Given the description of an element on the screen output the (x, y) to click on. 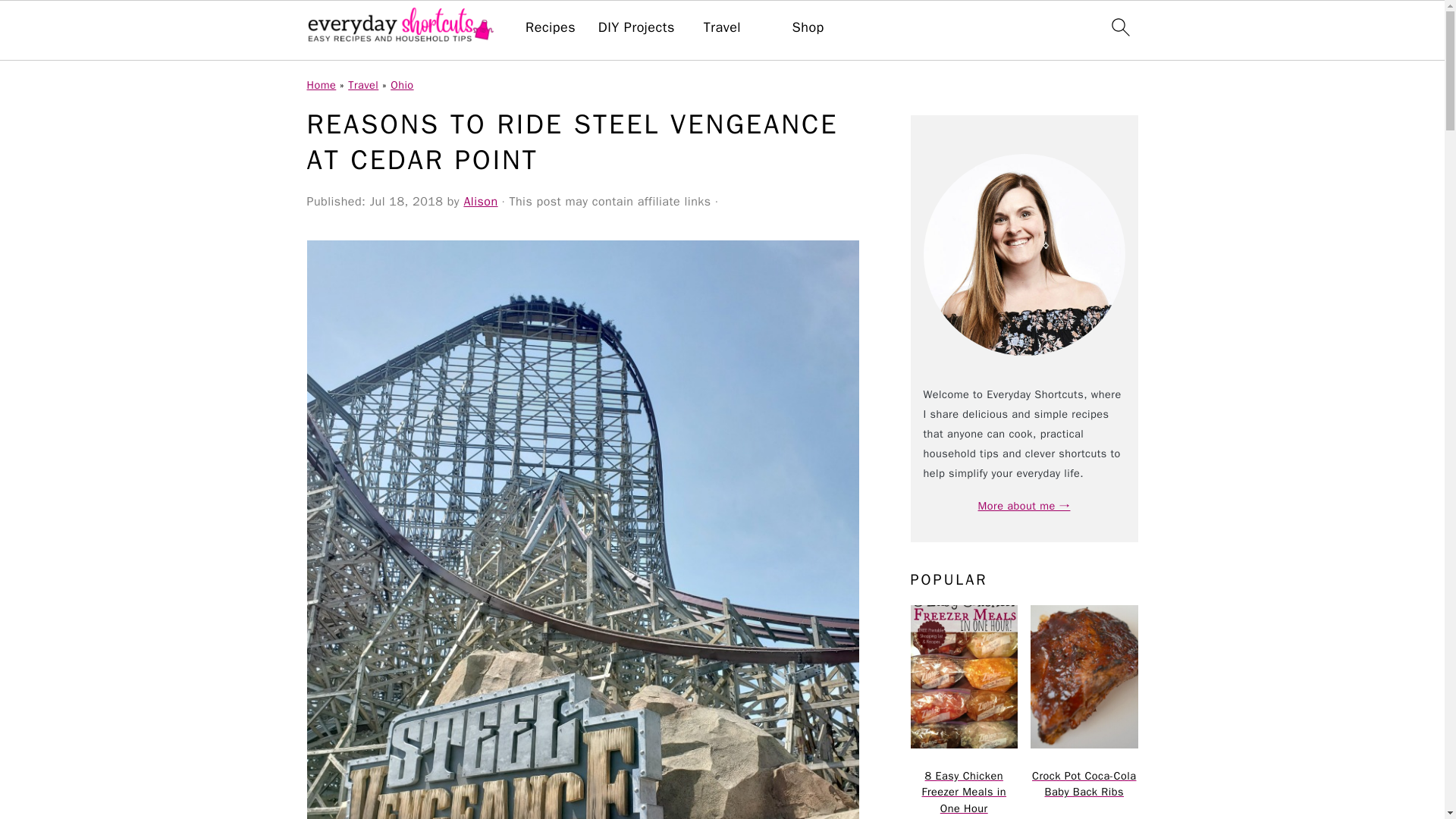
search icon (1119, 26)
Travel (362, 84)
Home (320, 84)
Travel (722, 27)
Ohio (401, 84)
Shop (808, 27)
DIY Projects (636, 27)
Alison (480, 201)
Recipes (550, 27)
